Given the description of an element on the screen output the (x, y) to click on. 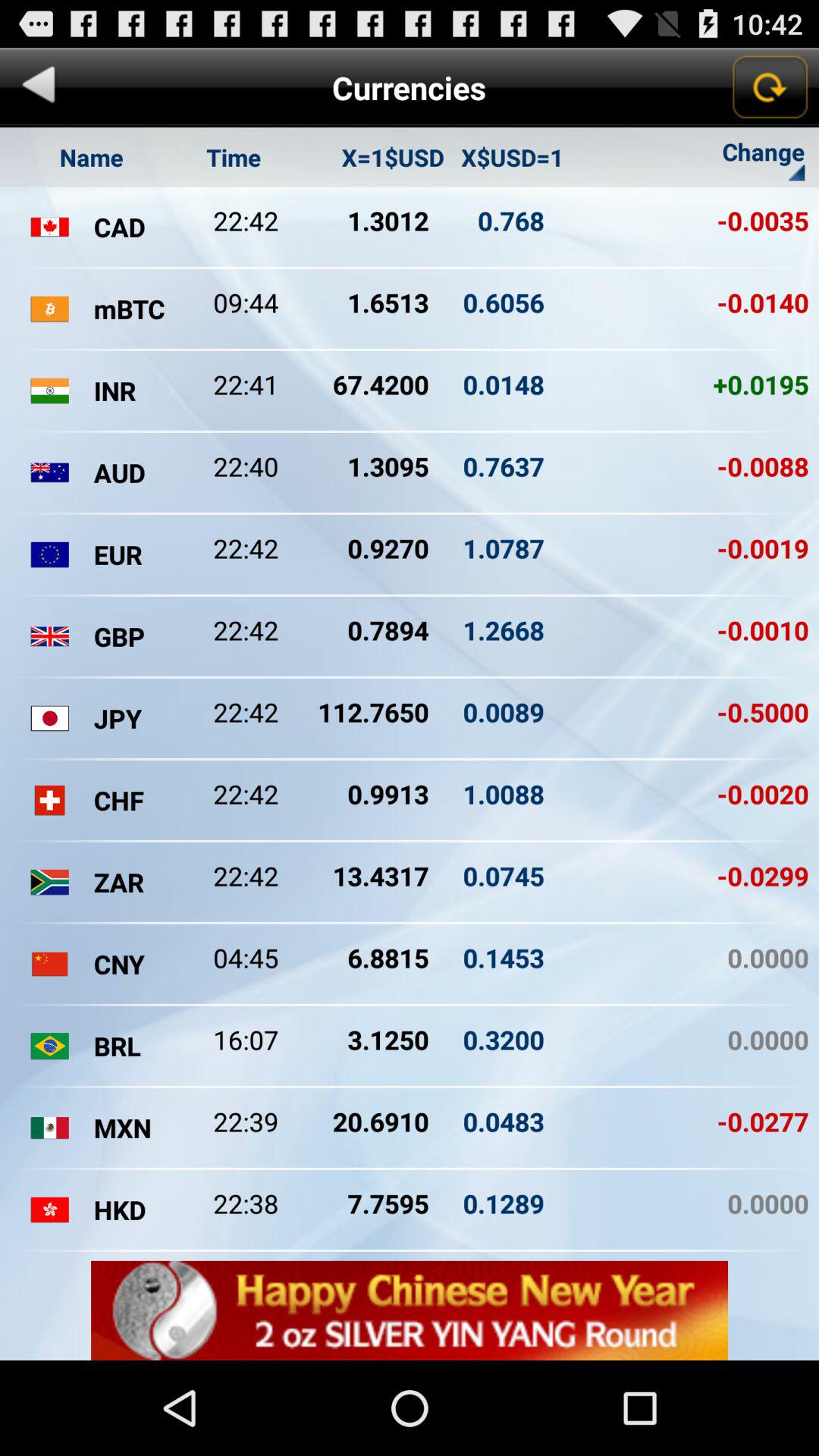
advertisement (409, 1310)
